Given the description of an element on the screen output the (x, y) to click on. 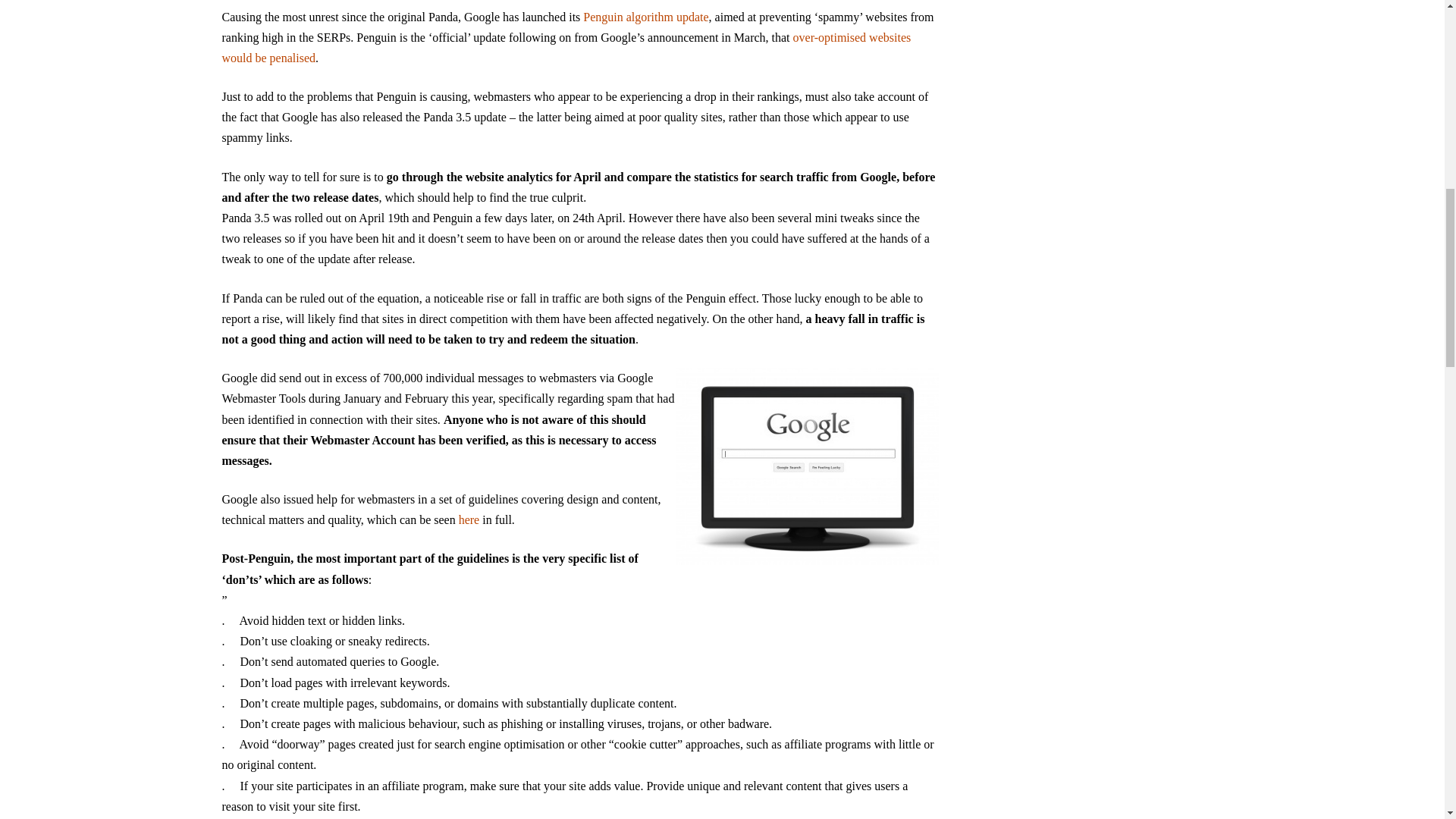
black-white-google (808, 466)
Penguin algorithm update (645, 16)
over-optimised websites would be penalised (566, 47)
here (469, 519)
